Given the description of an element on the screen output the (x, y) to click on. 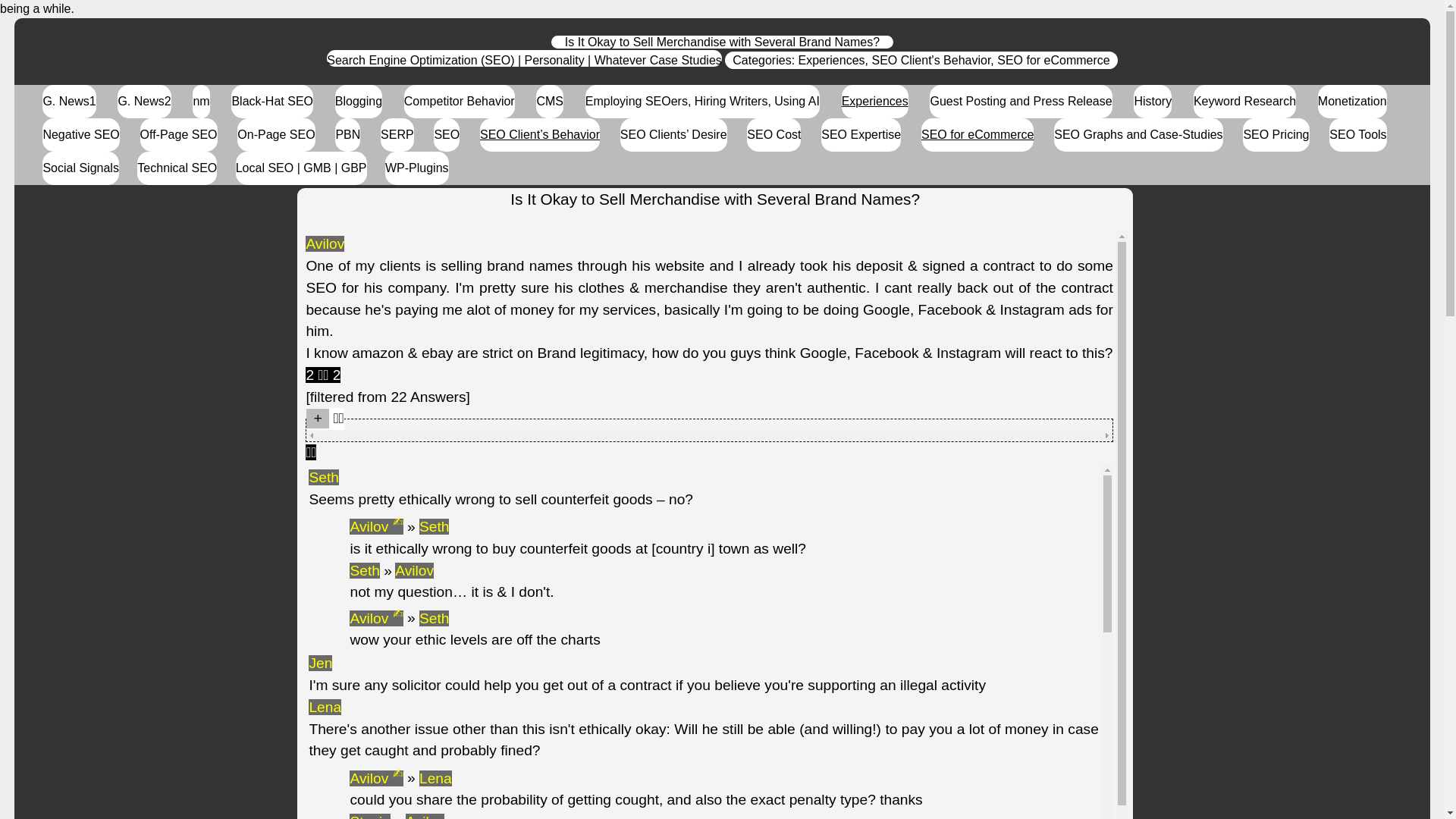
Social Signals (80, 168)
Black-Hat SEO (272, 101)
SEO for eCommerce (977, 134)
Competitor Behavior (459, 101)
Experiences (830, 60)
SEO Pricing (1275, 134)
Guest Posting and Press Release (1021, 101)
WP-Plugins (416, 168)
Technical SEO (176, 168)
Blogging (357, 101)
